Given the description of an element on the screen output the (x, y) to click on. 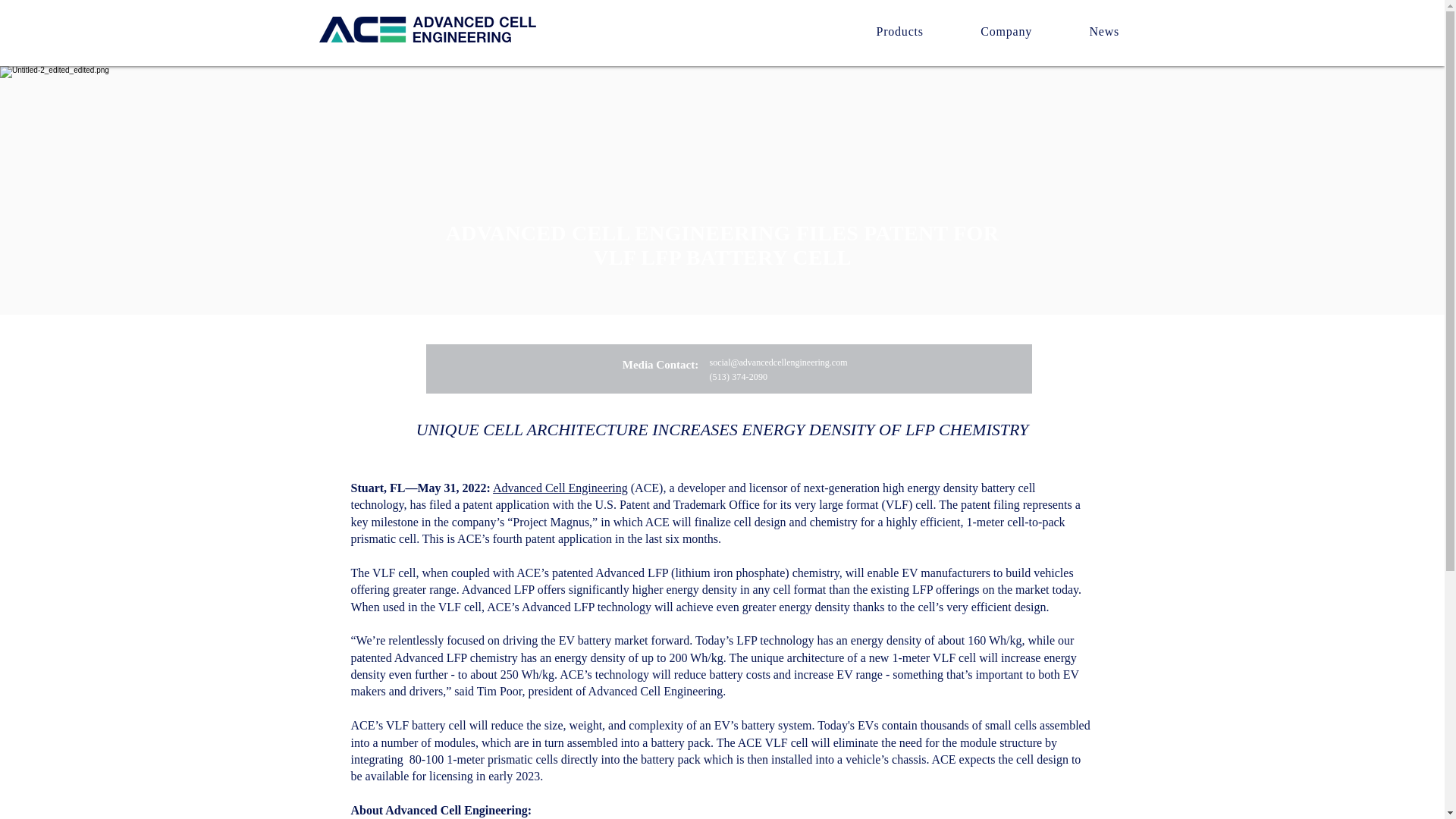
Products (899, 31)
Advanced Cell Engineering (560, 487)
News (1104, 31)
Company (1006, 31)
